Given the description of an element on the screen output the (x, y) to click on. 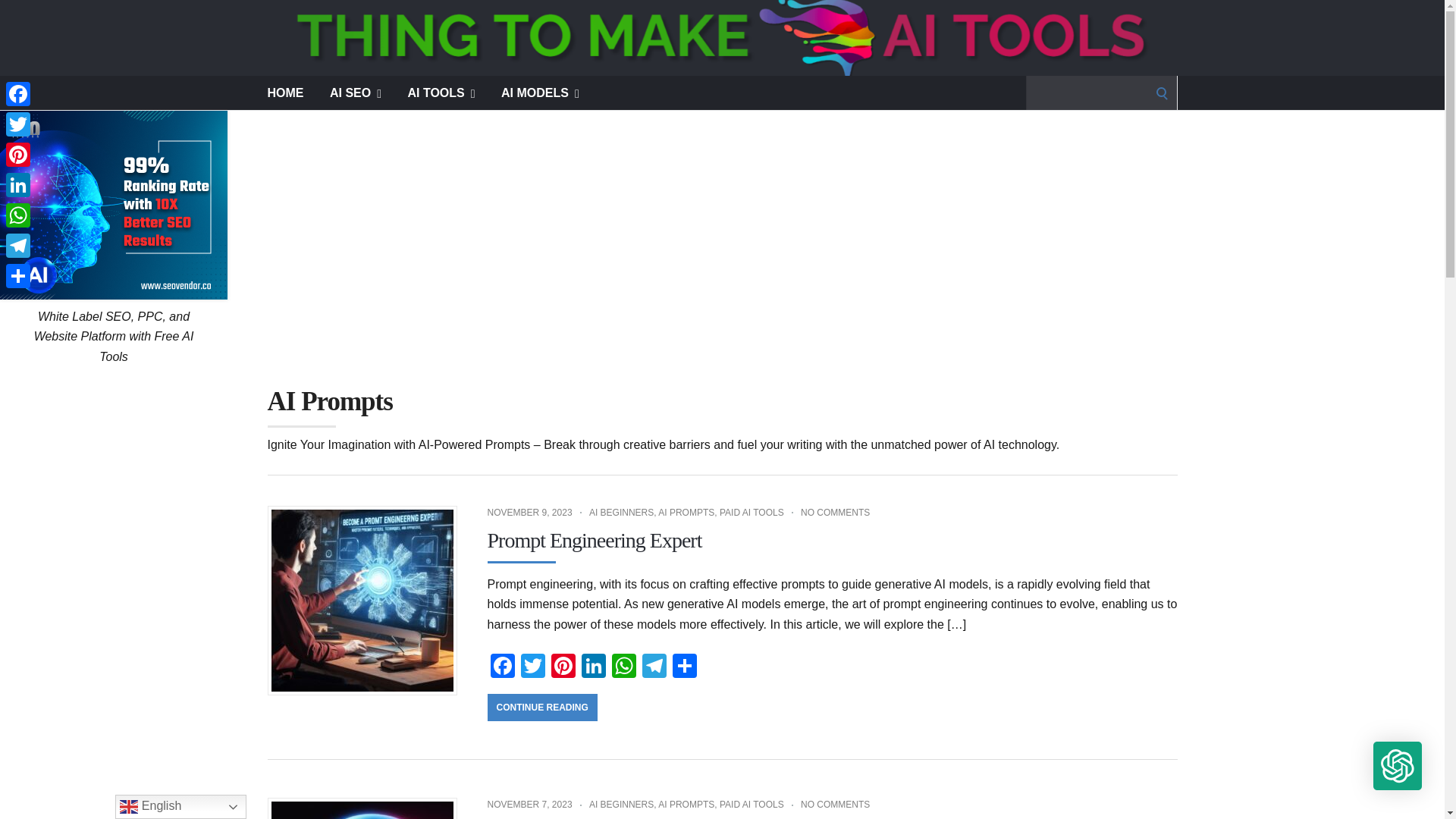
LinkedIn (593, 667)
WhatsApp (623, 667)
Prompt Engineering Expert (593, 540)
Twitter (531, 667)
AI BEGINNERS (621, 511)
AI MODELS (539, 92)
AI PROMPTS (686, 511)
Share (683, 667)
Twitter (531, 667)
Search (16, 17)
Telegram (653, 667)
Facebook (501, 667)
Telegram (653, 667)
AI TOOLS (440, 92)
AI SEO (355, 92)
